Given the description of an element on the screen output the (x, y) to click on. 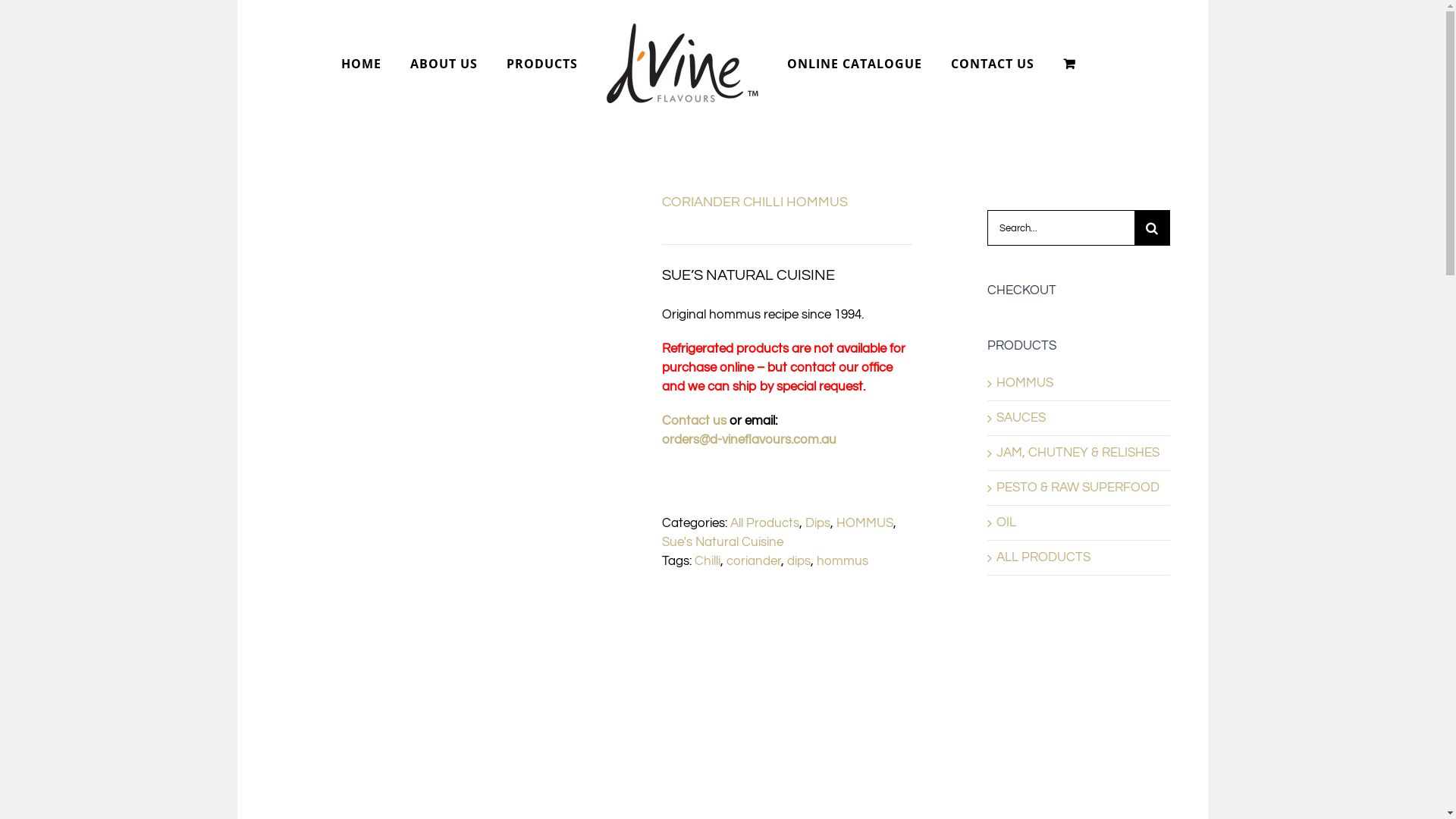
hommus Element type: text (841, 560)
ALL PRODUCTS Element type: text (1043, 557)
orders@d-vineflavours.com.au Element type: text (748, 439)
HOMMUS Element type: text (1024, 382)
ABOUT US Element type: text (442, 63)
dips Element type: text (798, 560)
All Products Element type: text (763, 523)
JAM, CHUTNEY & RELISHES Element type: text (1077, 452)
PRODUCTS Element type: text (541, 63)
OIL Element type: text (1006, 522)
PESTO & RAW SUPERFOOD Element type: text (1077, 487)
Sue's Natural Cuisine Element type: text (721, 542)
SAUCES Element type: text (1020, 417)
CONTACT US Element type: text (992, 63)
HOMMUS Element type: text (863, 523)
Dips Element type: text (817, 523)
Chilli Element type: text (707, 560)
Contact us Element type: text (693, 420)
coriander Element type: text (753, 560)
HOME Element type: text (361, 63)
ONLINE CATALOGUE Element type: text (854, 63)
